Given the description of an element on the screen output the (x, y) to click on. 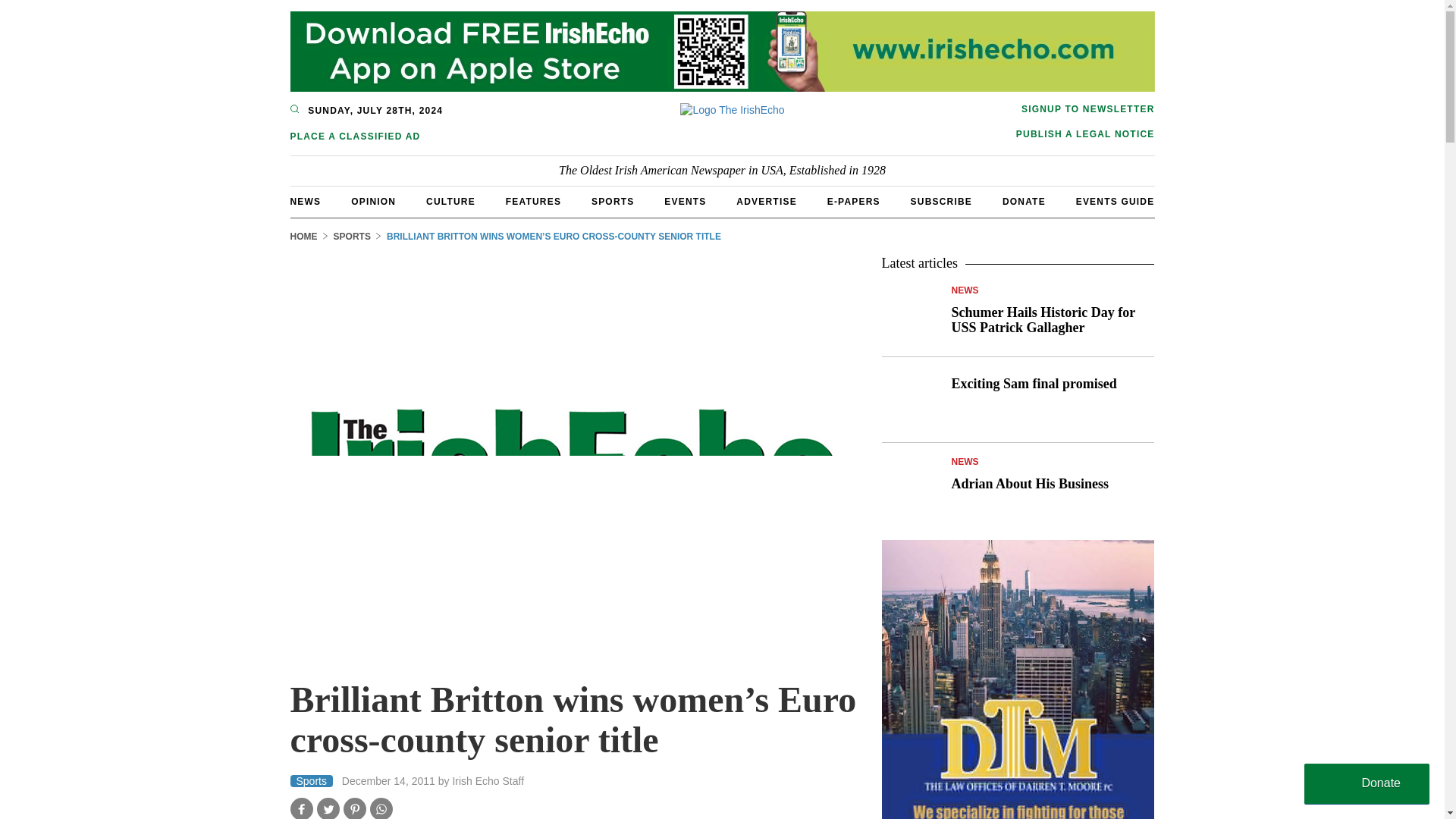
CULTURE (451, 201)
FEATURES (532, 201)
NEWS (304, 201)
EVENTS (684, 201)
EVENTS GUIDE (1114, 201)
SUBSCRIBE (941, 201)
SPORTS (612, 201)
SIGNUP TO NEWSLETTER (1085, 109)
PUBLISH A LEGAL NOTICE (1085, 133)
DONATE (1024, 201)
OPINION (373, 201)
E-PAPERS (853, 201)
ADVERTISE (766, 201)
PLACE A CLASSIFIED AD (368, 136)
